Given the description of an element on the screen output the (x, y) to click on. 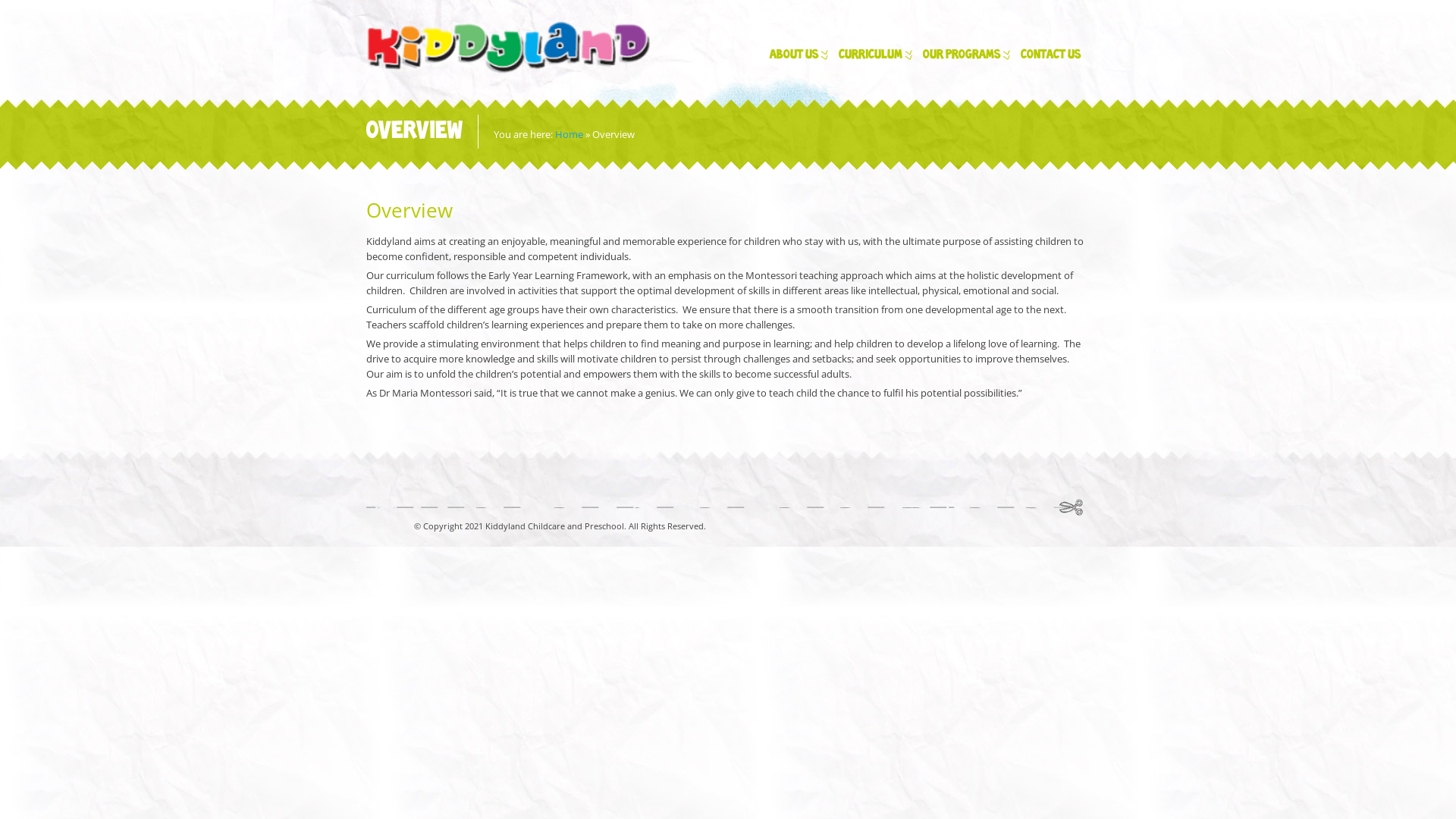
Curriculum Element type: text (869, 59)
Kiddyland Montessori and Preschool Element type: hover (508, 46)
About Us Element type: text (792, 59)
Home Element type: text (569, 134)
Our Programs Element type: text (960, 59)
Contact Us Element type: text (1050, 59)
